Given the description of an element on the screen output the (x, y) to click on. 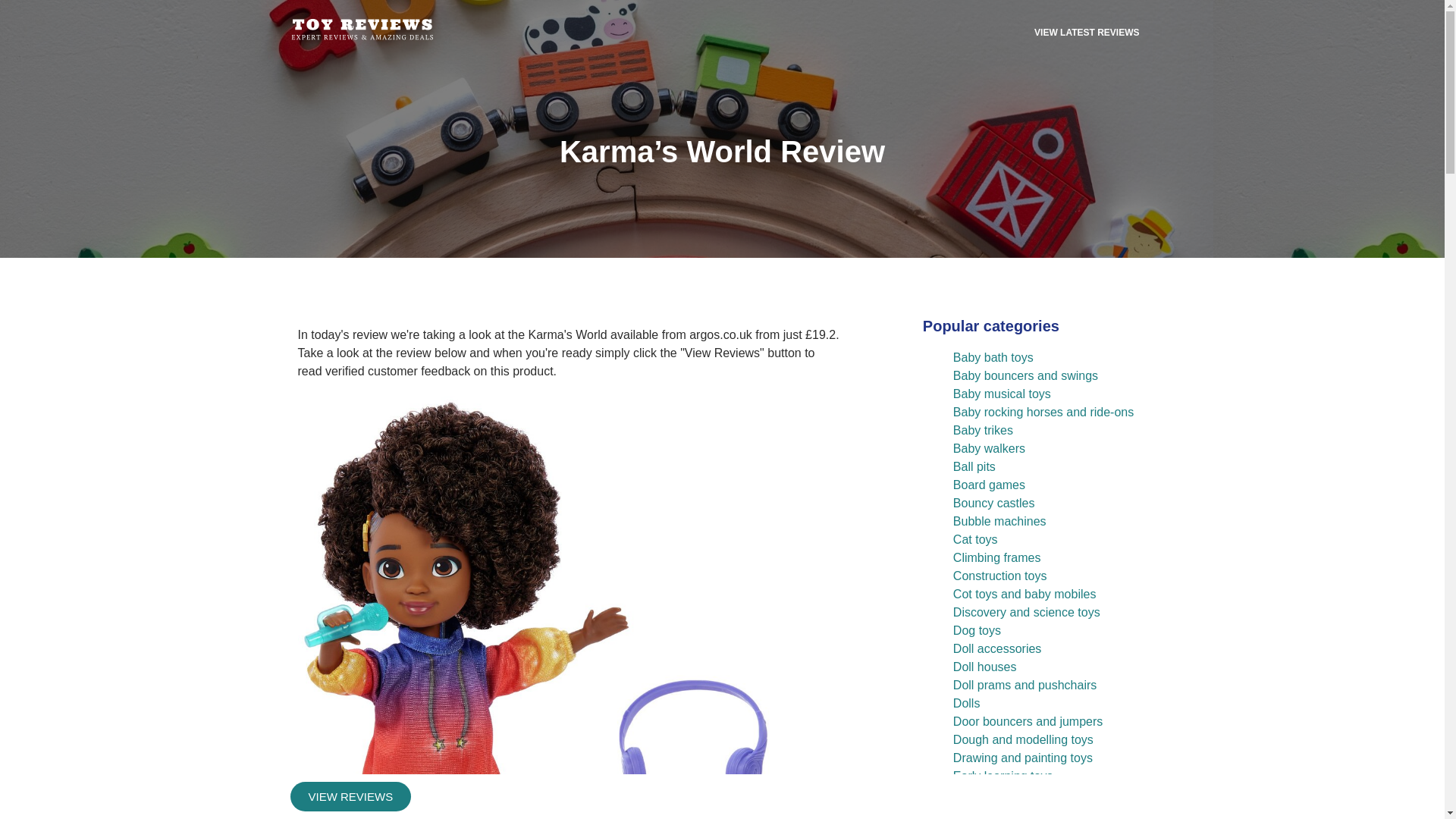
Baby rocking horses and ride-ons (1043, 411)
Baby bath toys (993, 357)
Baby musical toys (1002, 393)
Ball pits (974, 466)
Baby walkers (989, 448)
Baby trikes (983, 430)
VIEW LATEST REVIEWS (1086, 32)
Board games (989, 484)
Baby bouncers and swings (1025, 375)
